Given the description of an element on the screen output the (x, y) to click on. 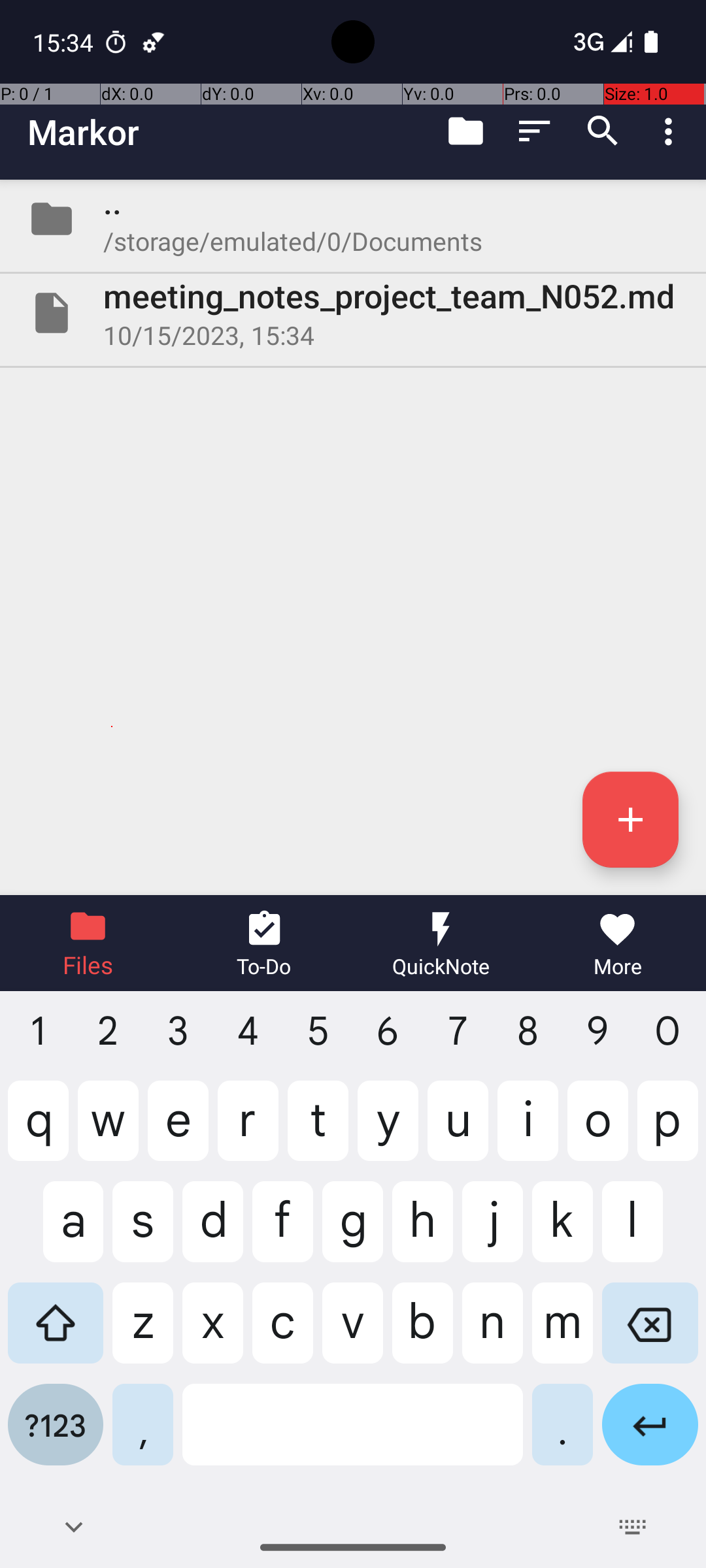
File meeting_notes_project_team_N052.md  Element type: android.widget.LinearLayout (353, 312)
